Given the description of an element on the screen output the (x, y) to click on. 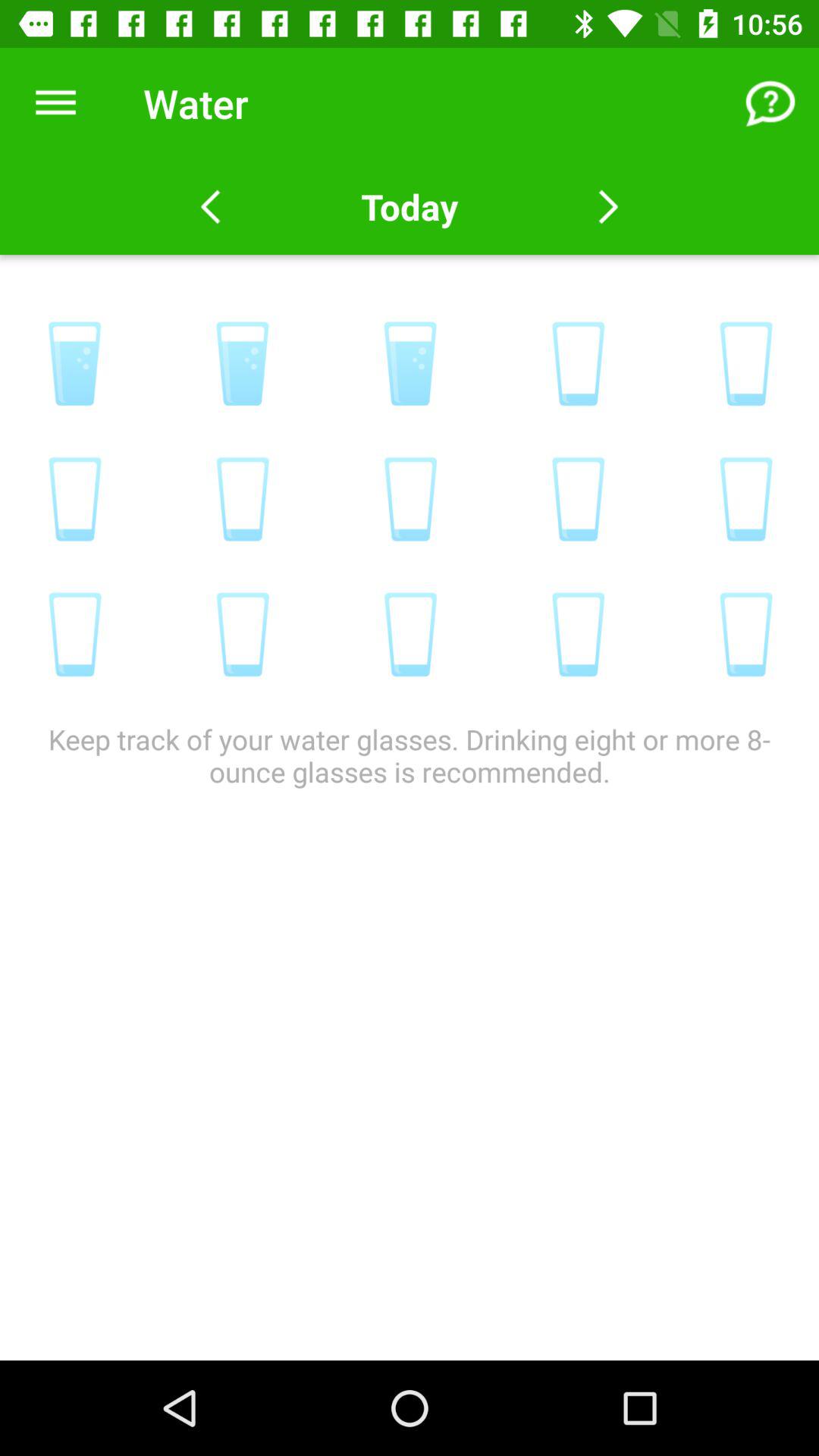
scroll until the today icon (409, 206)
